Given the description of an element on the screen output the (x, y) to click on. 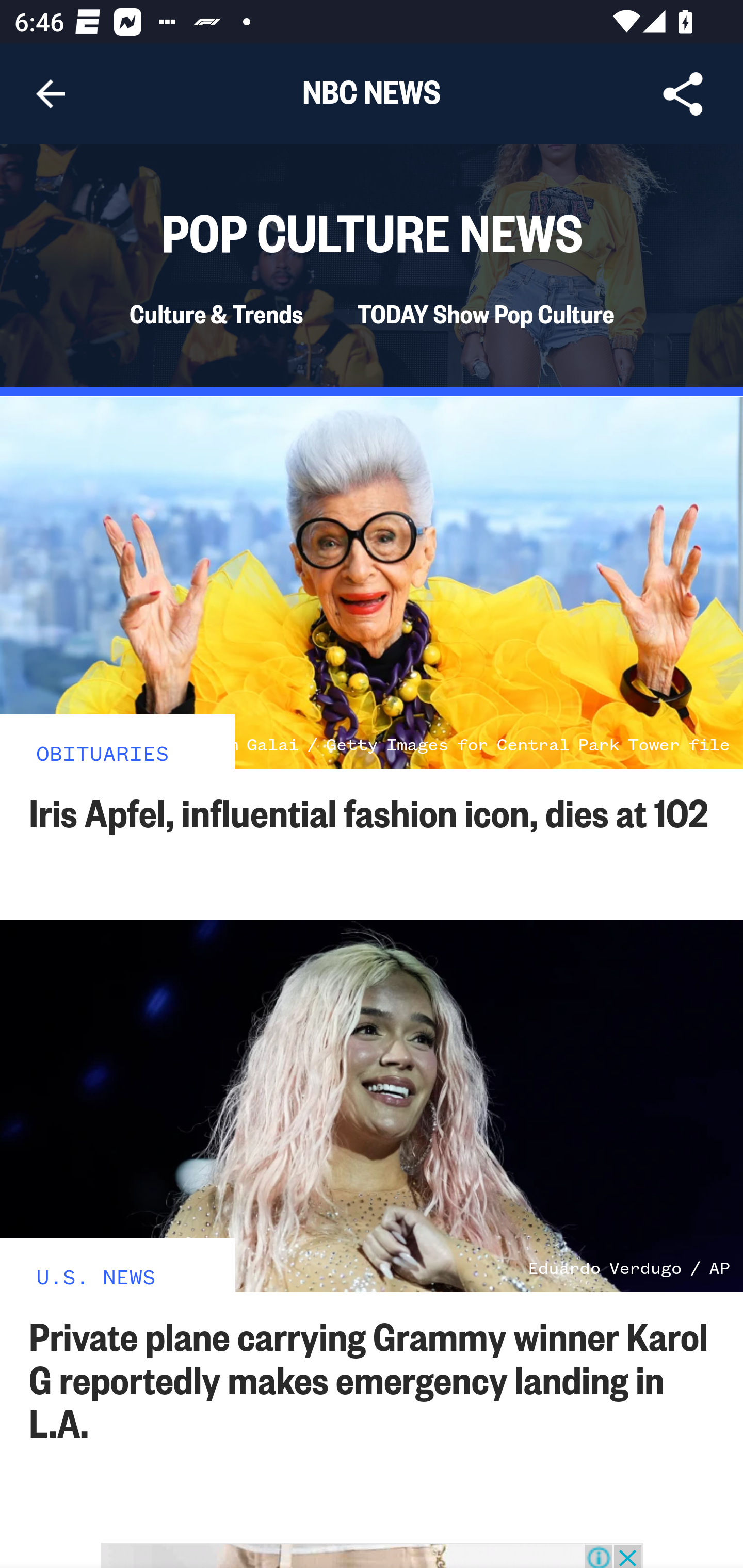
Navigate up (50, 93)
Share Article, button (683, 94)
Culture & Trends (215, 313)
TODAY Show Pop Culture (485, 313)
OBITUARIES OBITUARIES OBITUARIES (117, 740)
OBITUARIES (102, 751)
Iris Apfel, influential fashion icon, dies at 102 (368, 811)
U.S. NEWS U.S. NEWS U.S. NEWS (117, 1263)
U.S. NEWS (96, 1275)
